Given the description of an element on the screen output the (x, y) to click on. 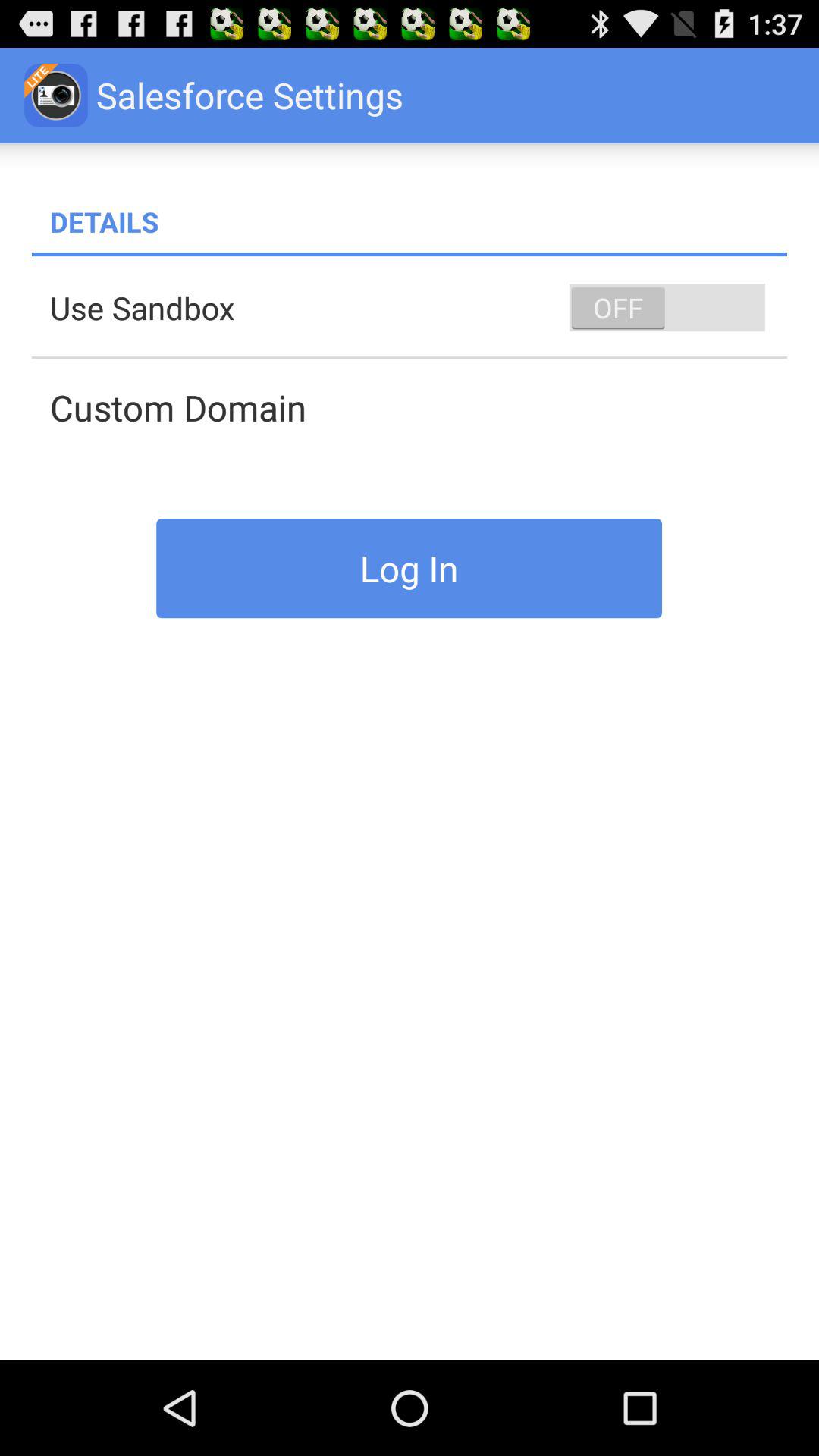
choose item above custom domain app (418, 307)
